Given the description of an element on the screen output the (x, y) to click on. 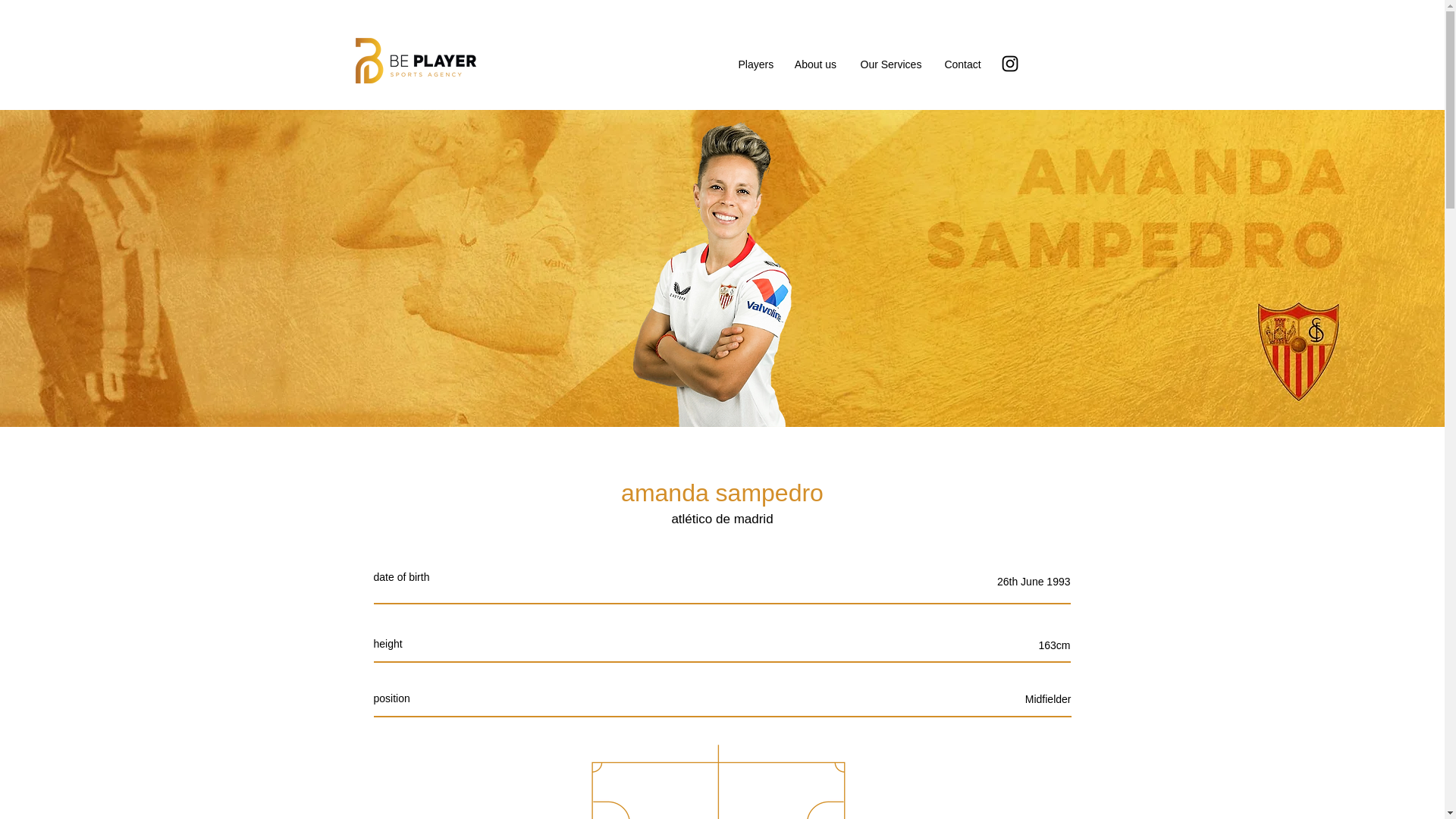
Our Services (890, 64)
About us (815, 64)
Contact (962, 64)
